Given the description of an element on the screen output the (x, y) to click on. 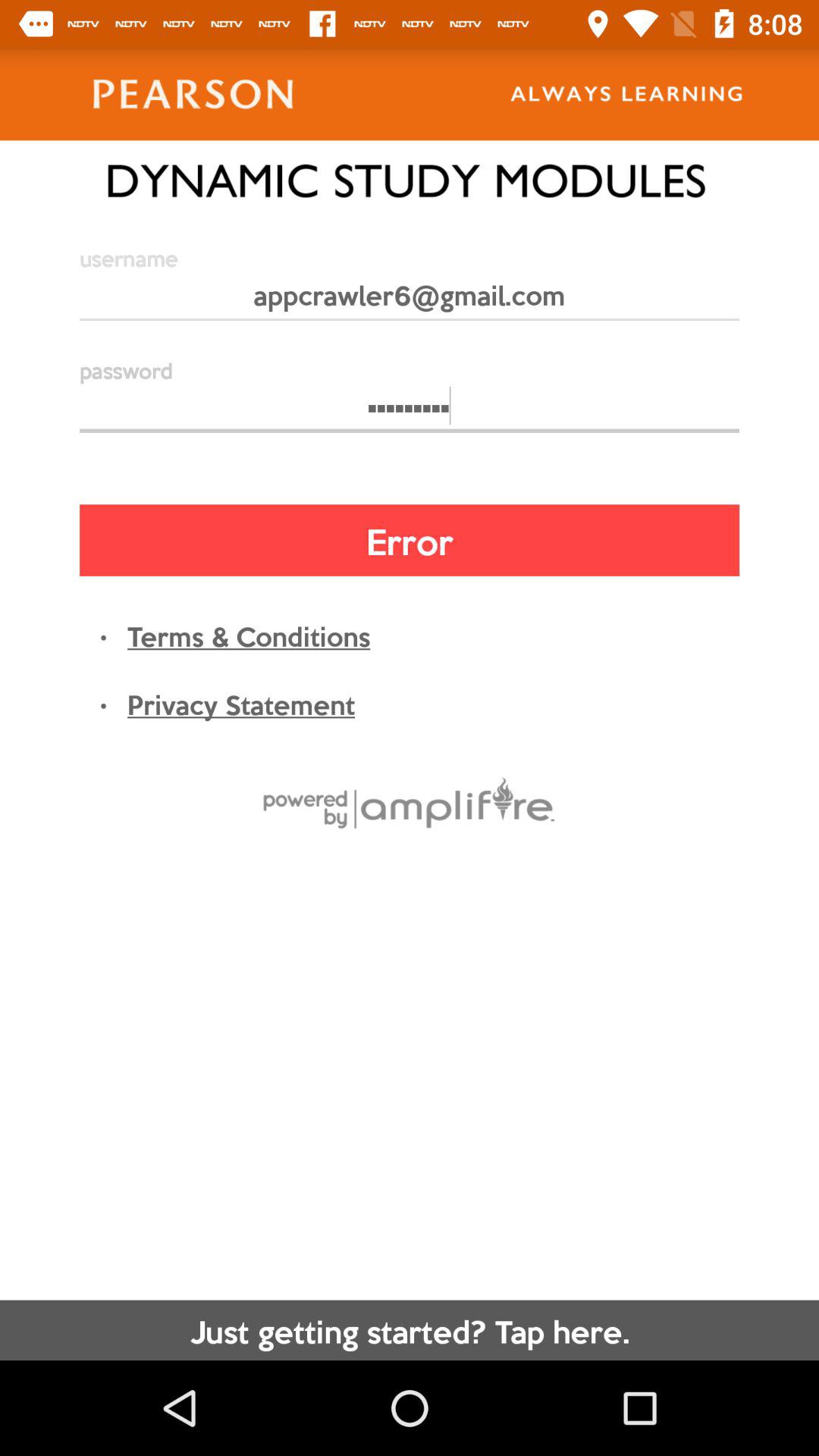
press the just getting started button (409, 1330)
